Given the description of an element on the screen output the (x, y) to click on. 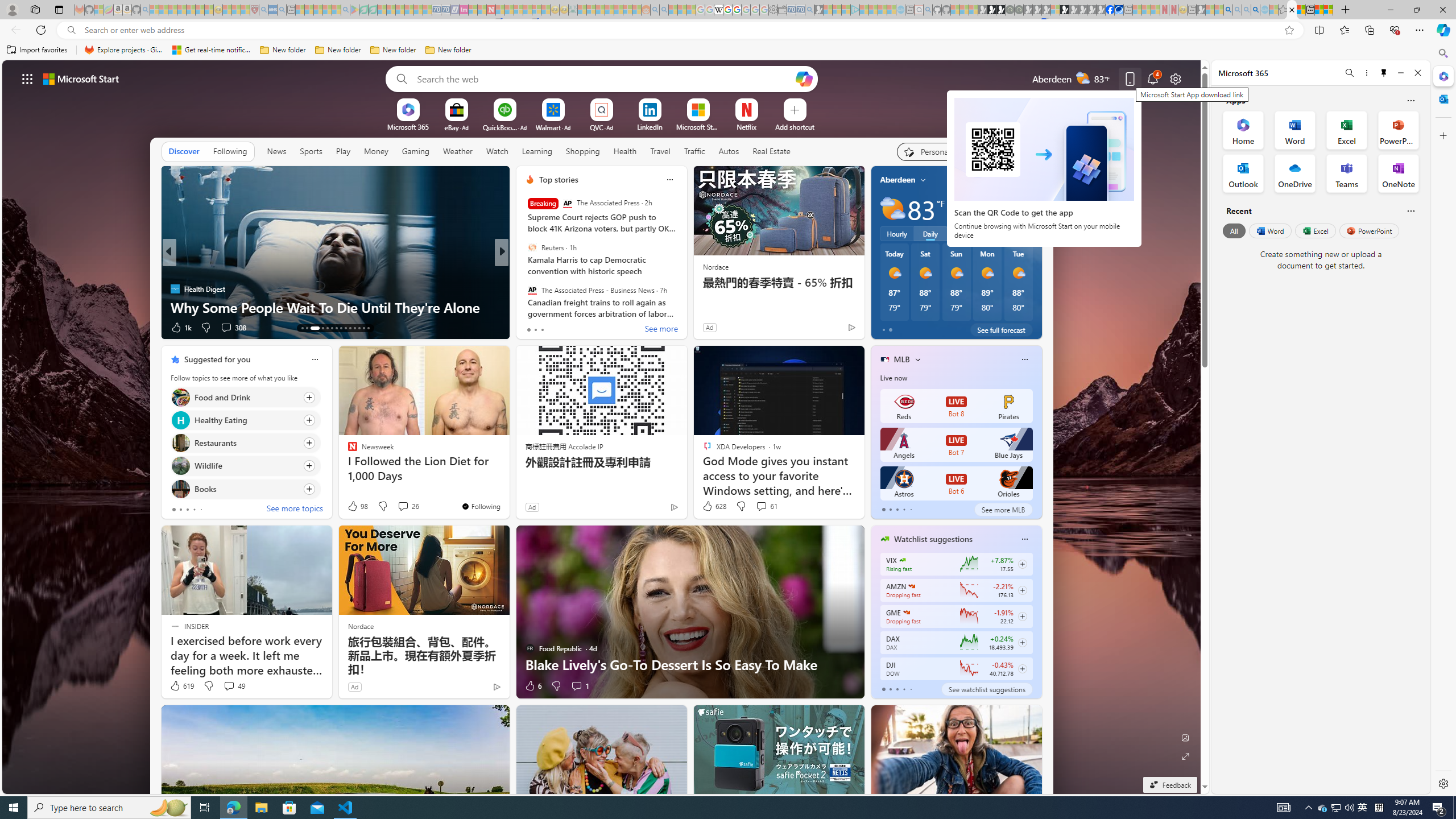
next (1035, 252)
The Best Time to Go to Bed According to Your Age (684, 307)
Page settings (1175, 78)
PowerPoint (1369, 230)
Word (1269, 230)
619 Like (181, 685)
View comments 49 Comment (233, 685)
